Given the description of an element on the screen output the (x, y) to click on. 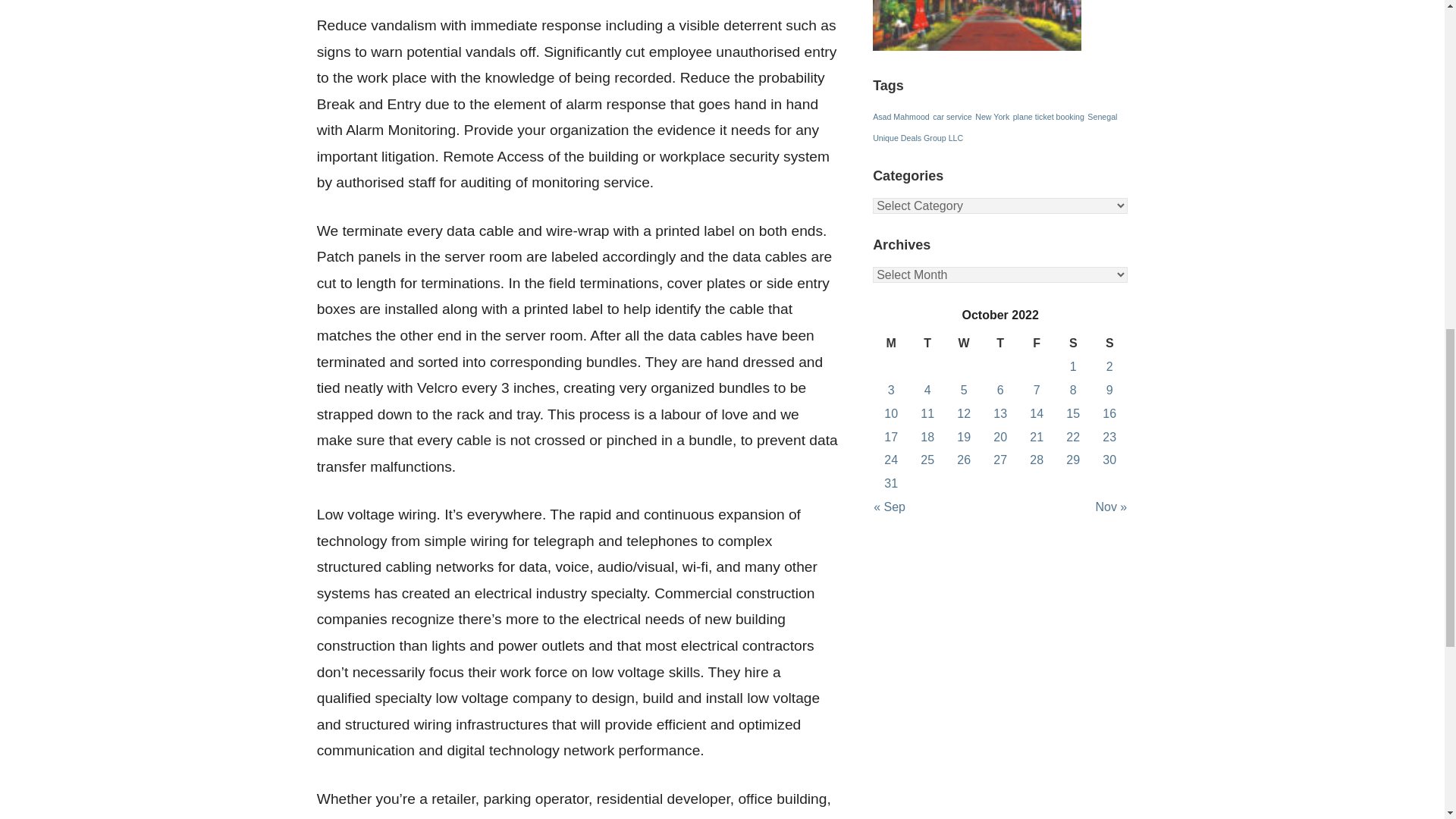
car service (952, 116)
Saturday (1072, 343)
New York (992, 116)
plane ticket booking (1048, 116)
Sunday (1108, 343)
Senegal (1101, 116)
Thursday (999, 343)
11 (927, 413)
Wednesday (962, 343)
Monday (890, 343)
Tuesday (926, 343)
10 (890, 413)
Unique Deals Group LLC (917, 137)
Friday (1035, 343)
Asad Mahmood (901, 116)
